Given the description of an element on the screen output the (x, y) to click on. 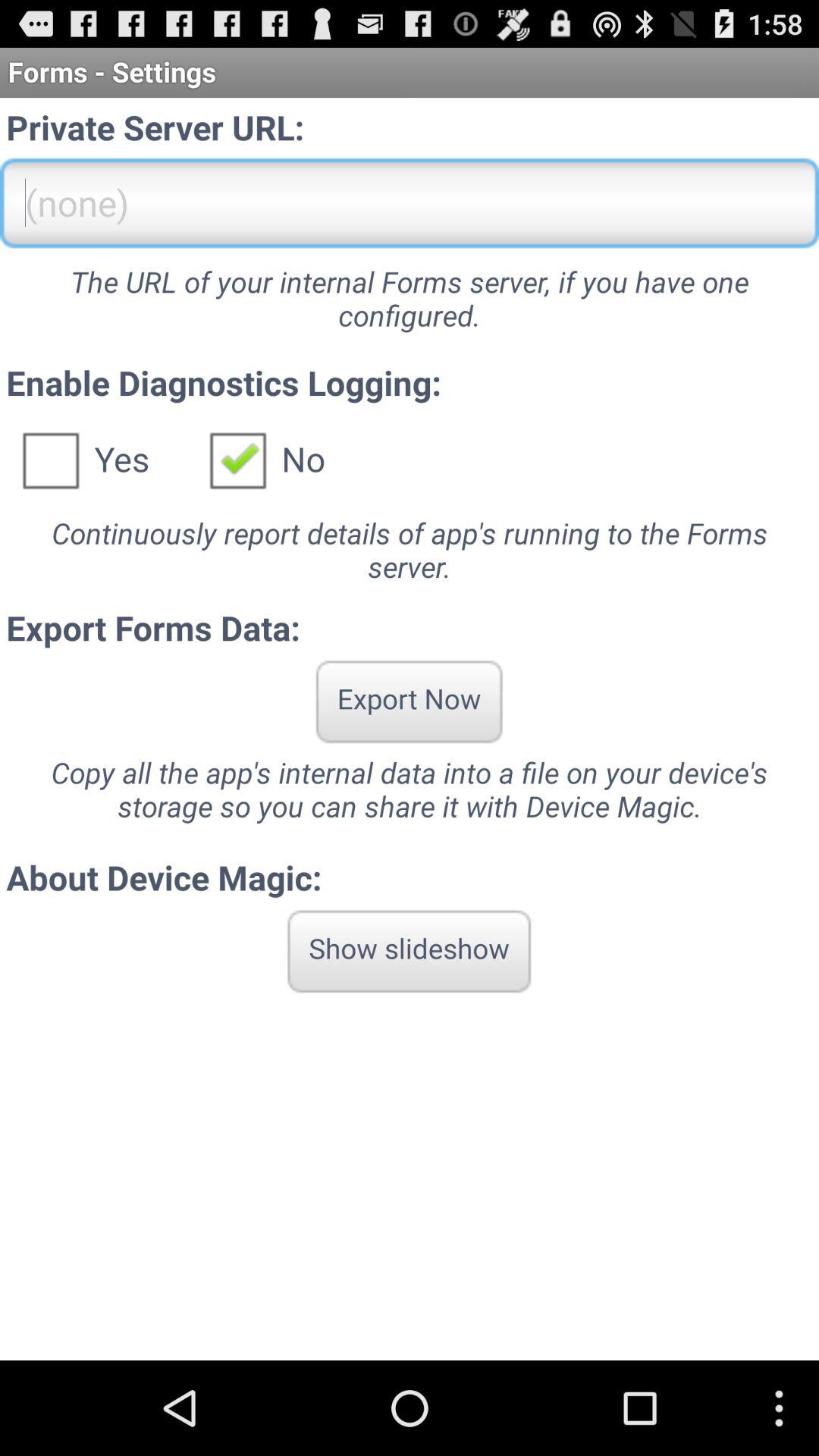
choose icon above copy all the app (409, 701)
